Given the description of an element on the screen output the (x, y) to click on. 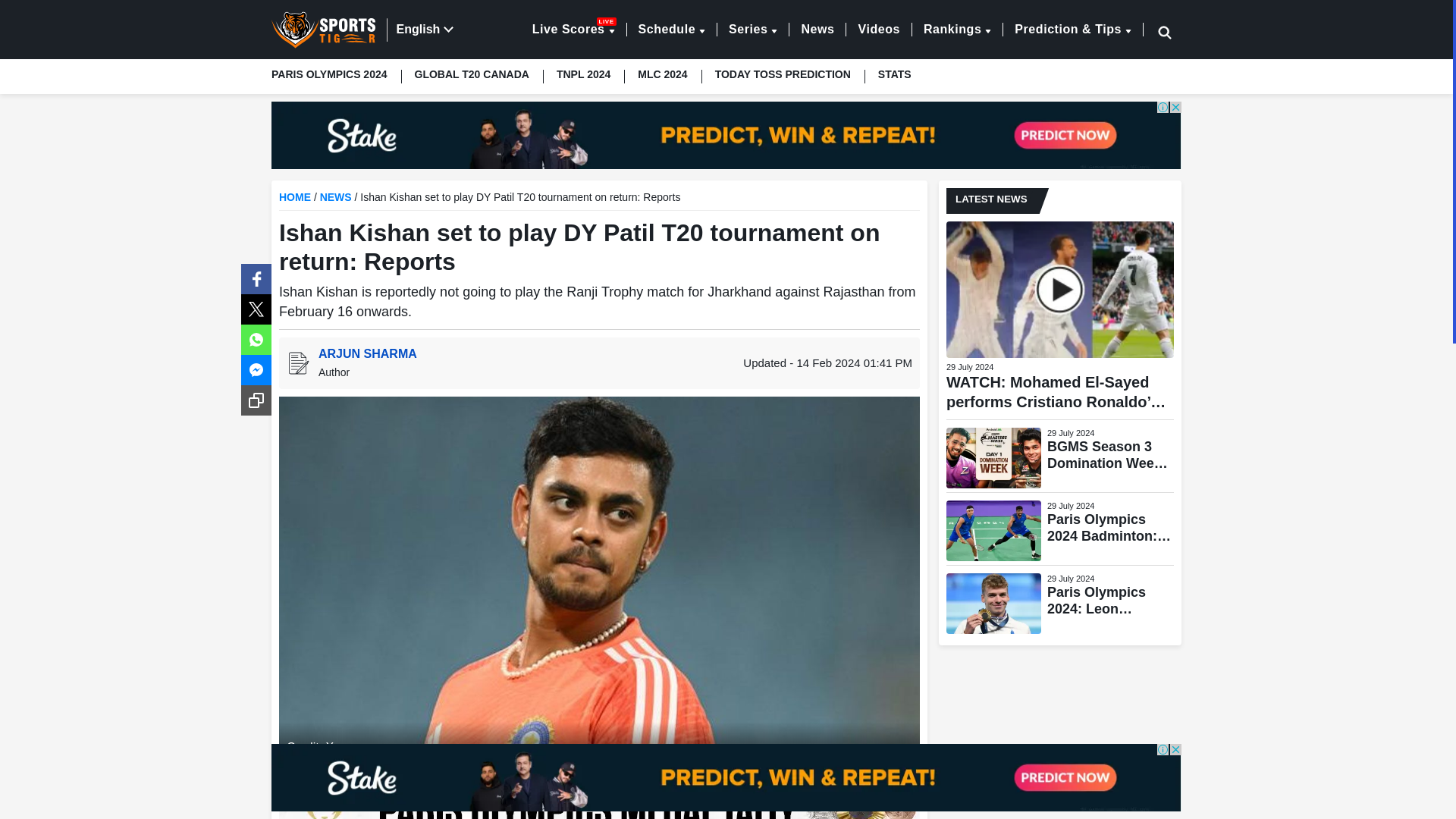
Search (1143, 32)
Schedule (671, 29)
Rankings (957, 29)
News (817, 29)
Series (752, 29)
Videos (573, 29)
